Given the description of an element on the screen output the (x, y) to click on. 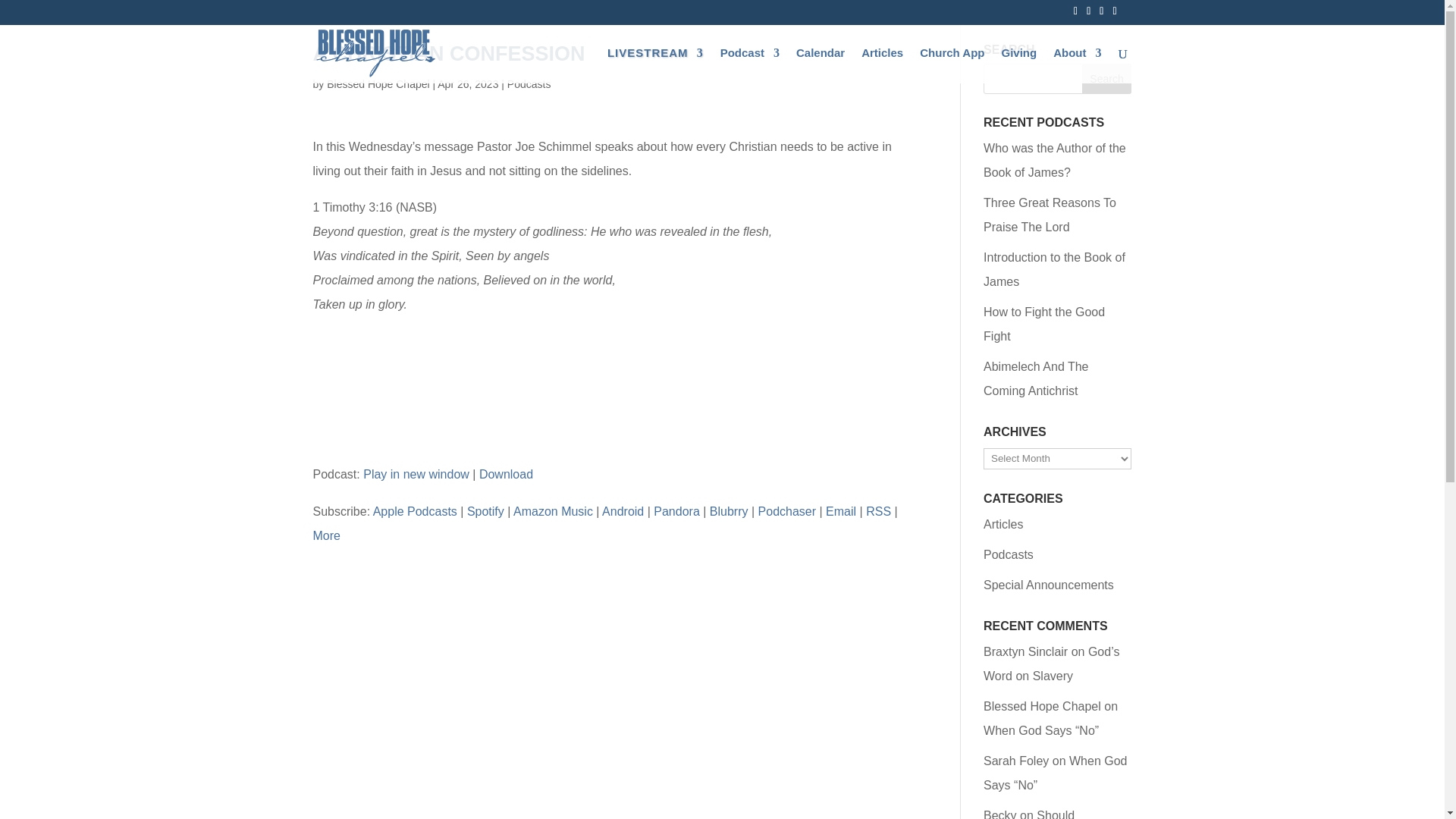
Amazon Music (552, 511)
Play in new window (415, 473)
Calendar (820, 65)
Blessed Hope Chapel (377, 83)
Email (840, 511)
Search (1106, 78)
Pandora (676, 511)
Podcasts (528, 83)
Apple Podcasts (414, 511)
Three Great Reasons To Praise The Lord (1050, 214)
Church App (952, 65)
Blubrry (729, 511)
Download (505, 473)
RSS (878, 511)
Subscribe on Amazon Music (552, 511)
